Given the description of an element on the screen output the (x, y) to click on. 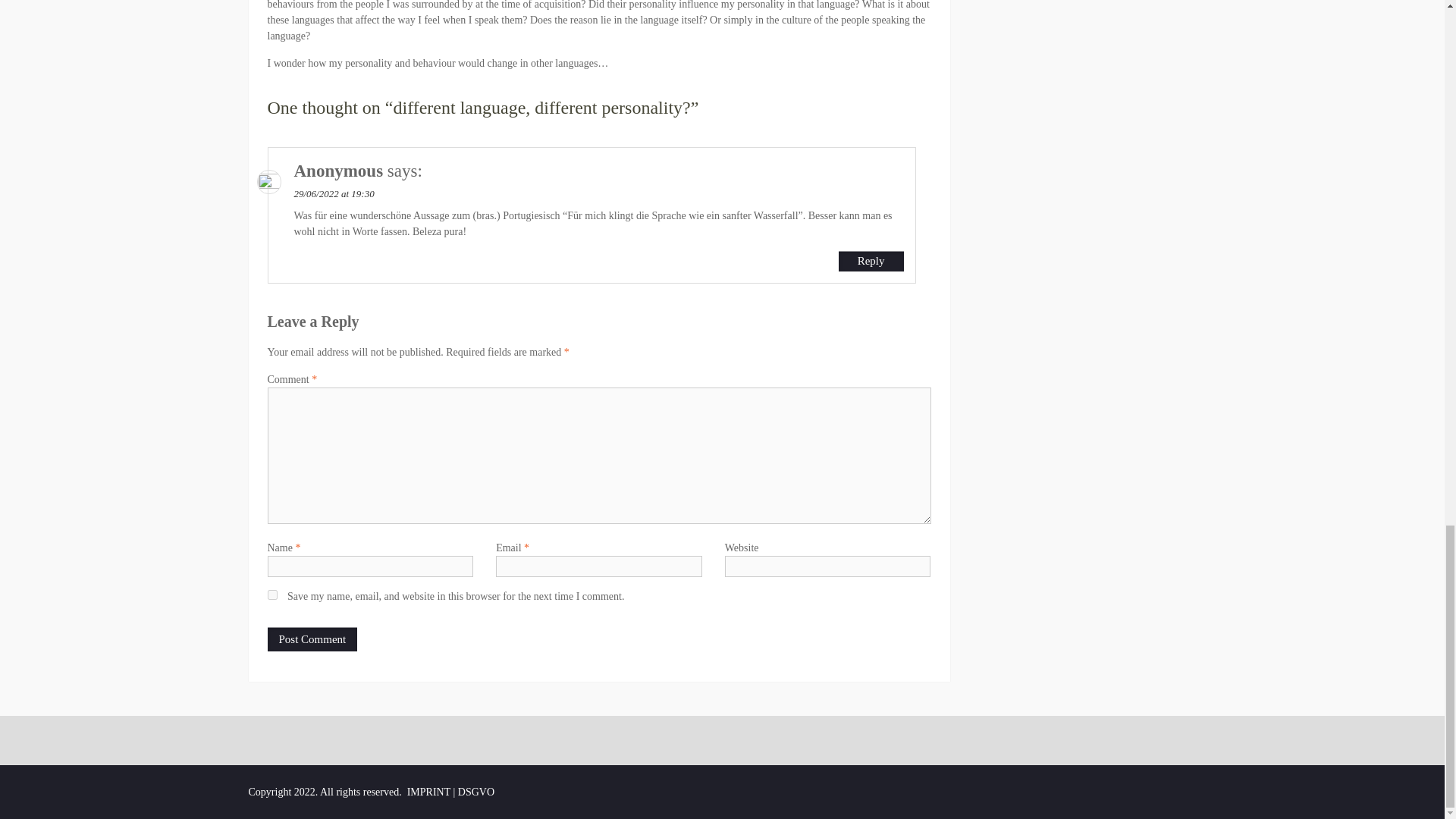
yes (271, 594)
IMPRINT (428, 791)
Reply (871, 260)
Post Comment (311, 639)
DSGVO (476, 791)
Post Comment (311, 639)
